Given the description of an element on the screen output the (x, y) to click on. 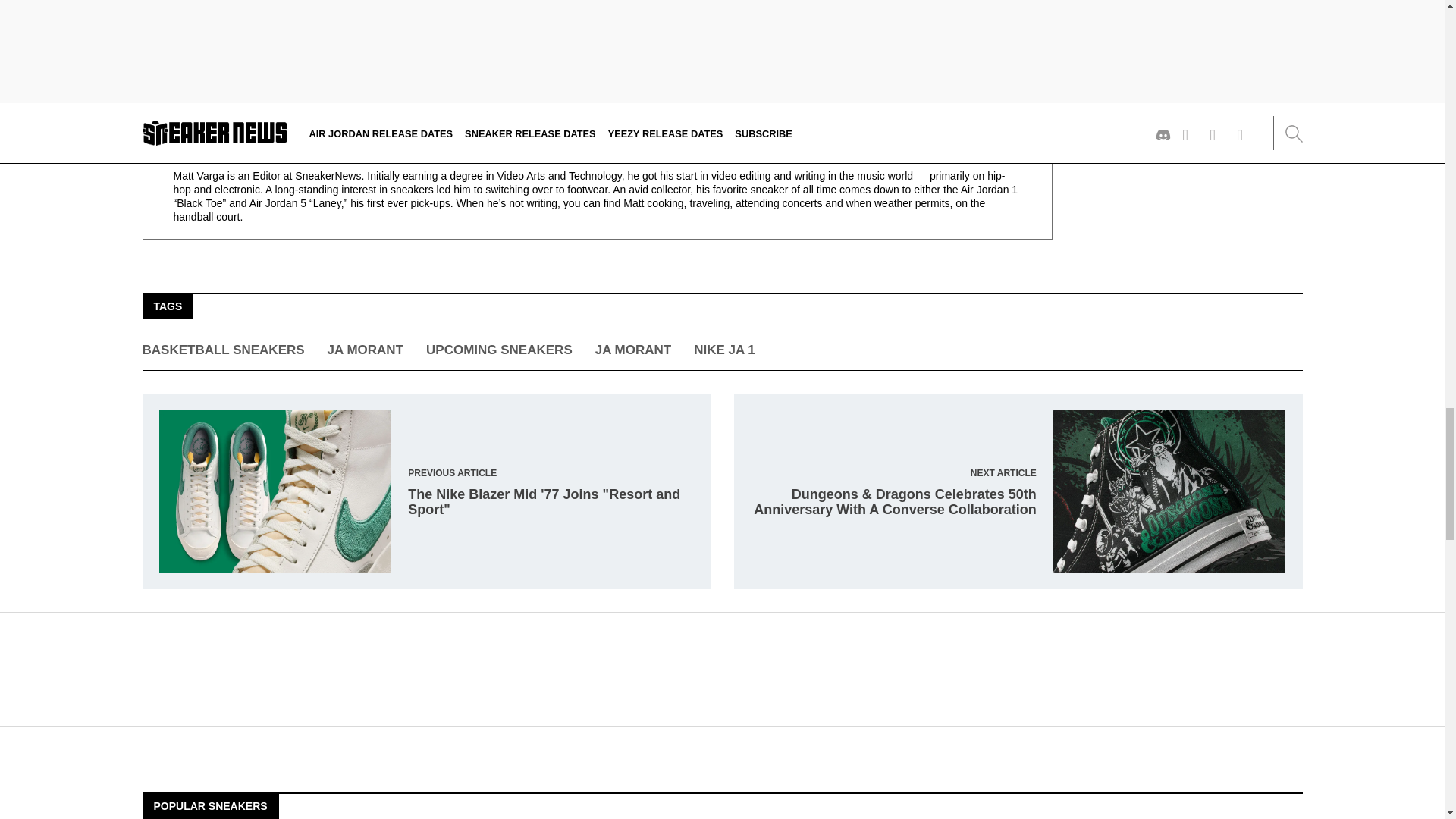
3rd party ad content (721, 669)
